Given the description of an element on the screen output the (x, y) to click on. 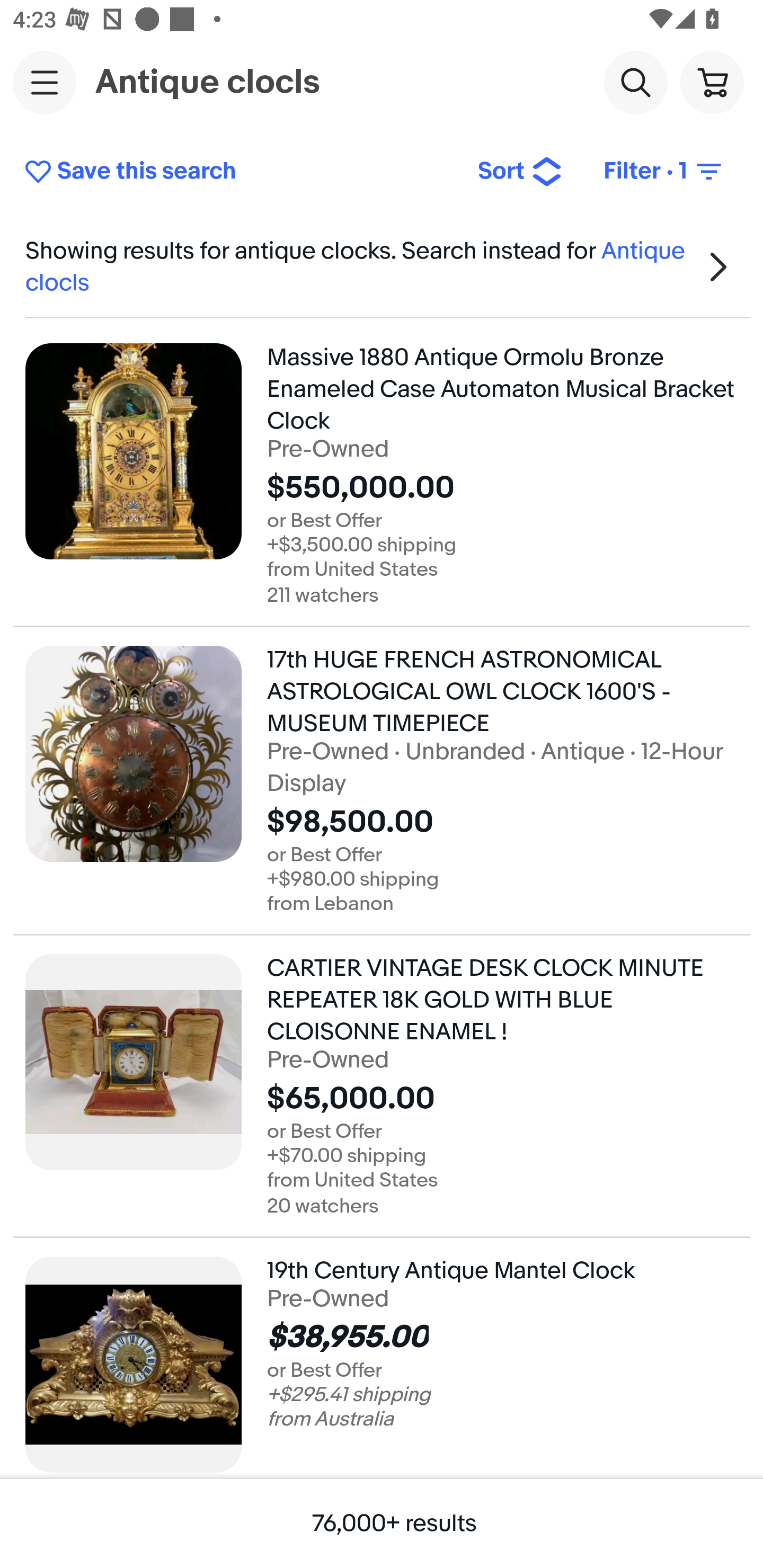
Main navigation, open (44, 82)
Search (635, 81)
Cart button shopping cart (711, 81)
Save this search (237, 171)
Sort (520, 171)
Filter • 1 Filter (1 applied) (663, 171)
